Given the description of an element on the screen output the (x, y) to click on. 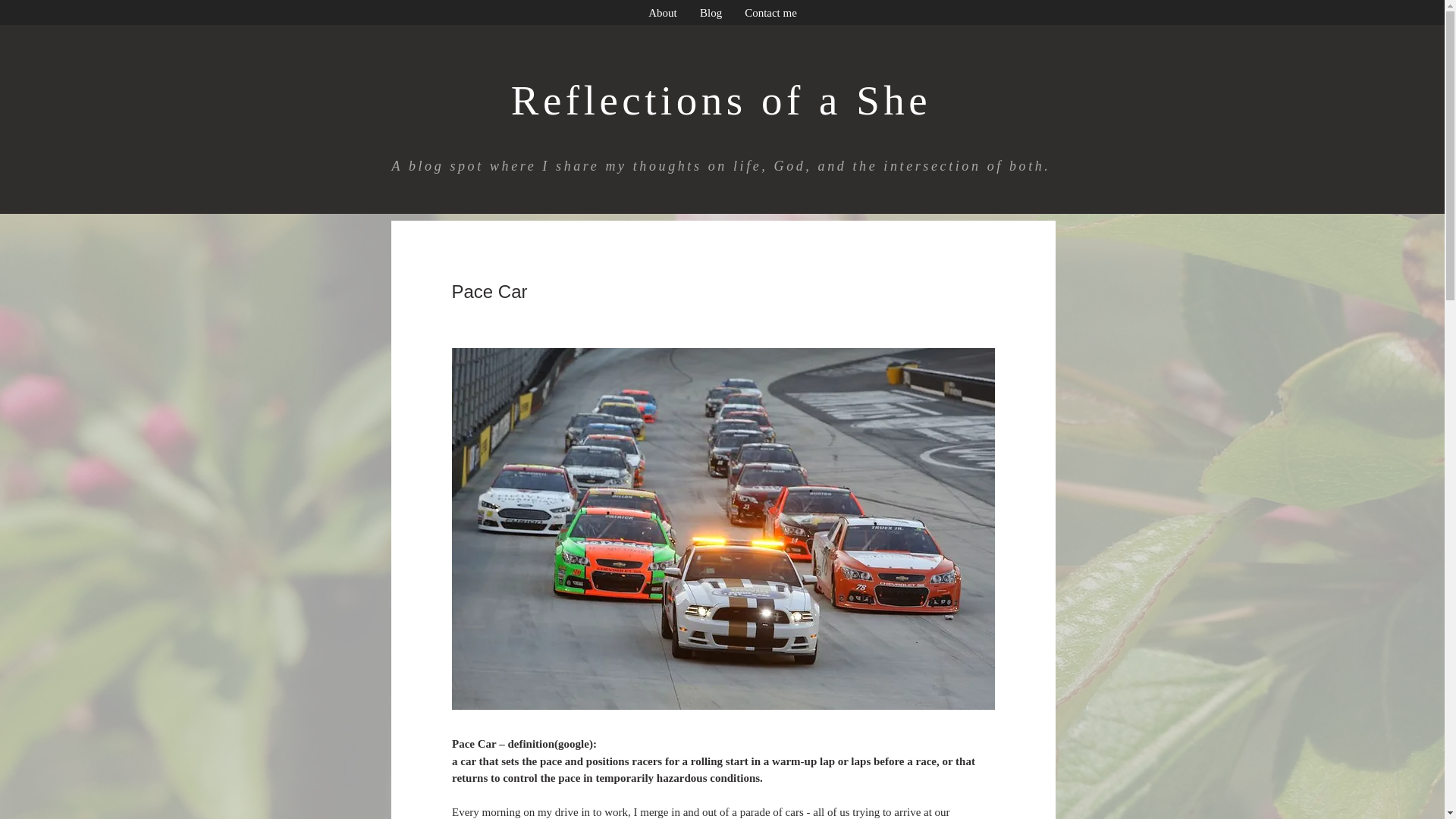
About (662, 13)
Contact me (770, 13)
Reflections of a She (721, 99)
Blog (710, 13)
